Given the description of an element on the screen output the (x, y) to click on. 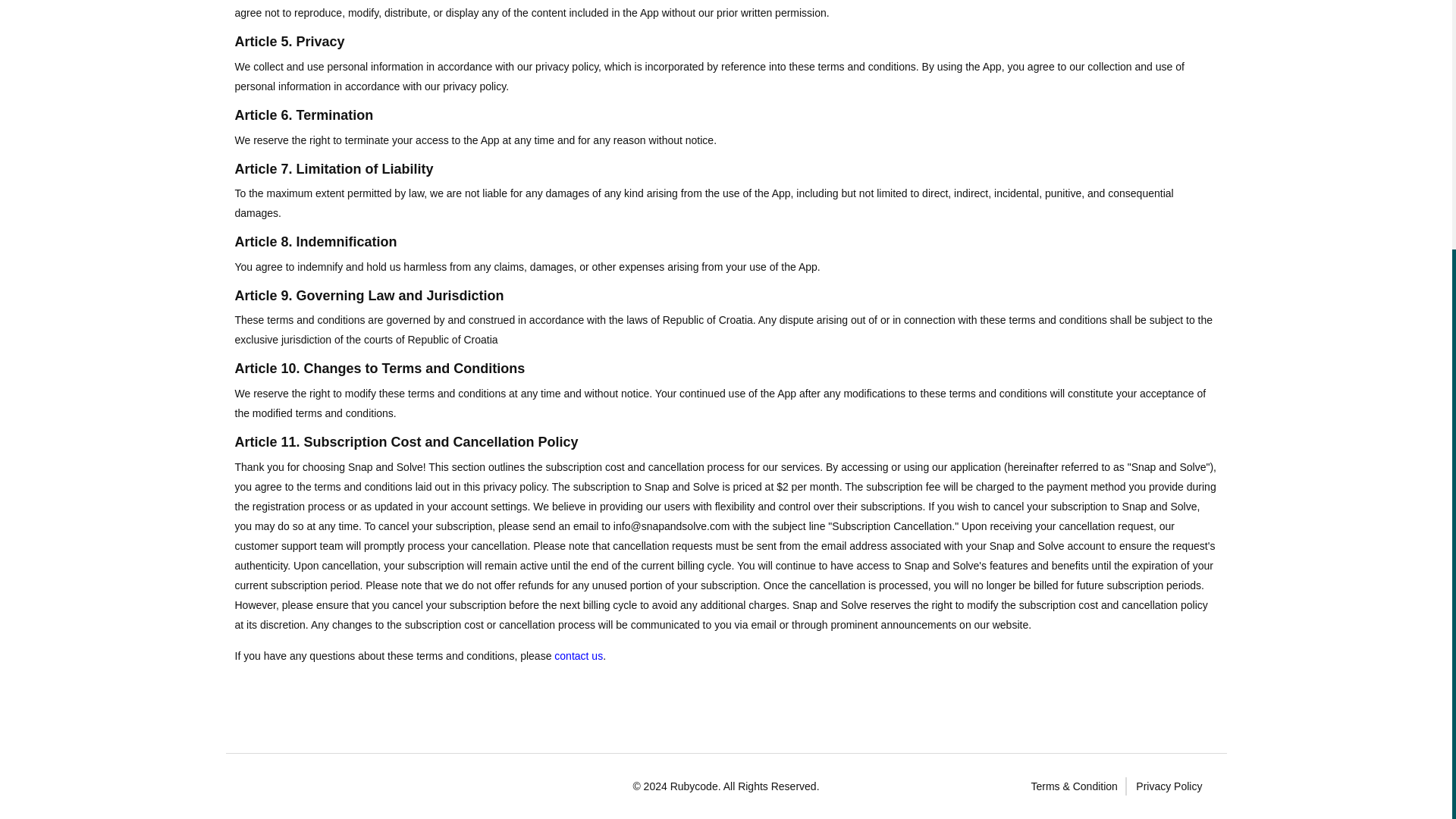
contact us (578, 655)
Privacy Policy (1168, 786)
